Given the description of an element on the screen output the (x, y) to click on. 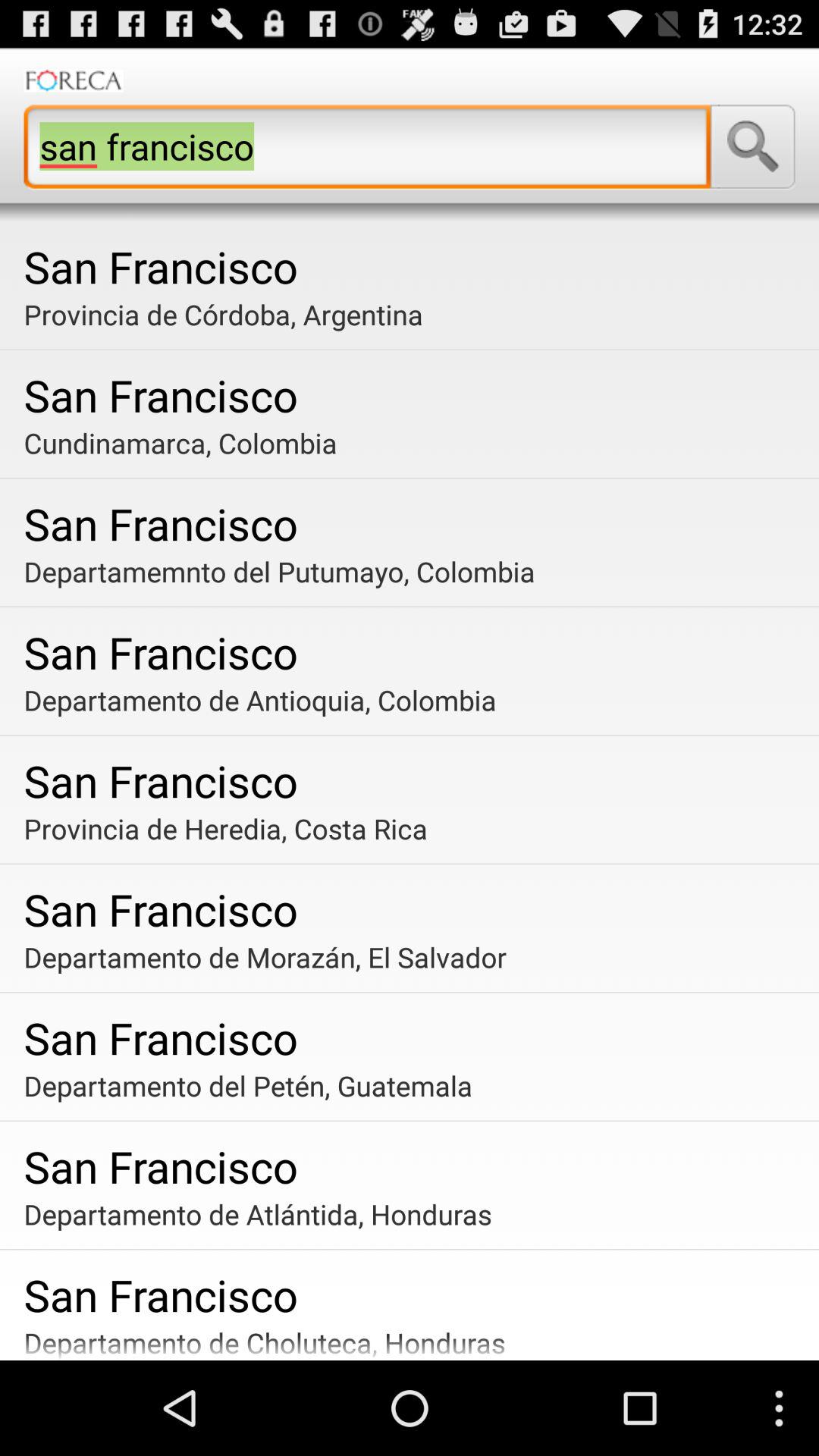
jump until the departamemnto del putumayo (415, 571)
